Given the description of an element on the screen output the (x, y) to click on. 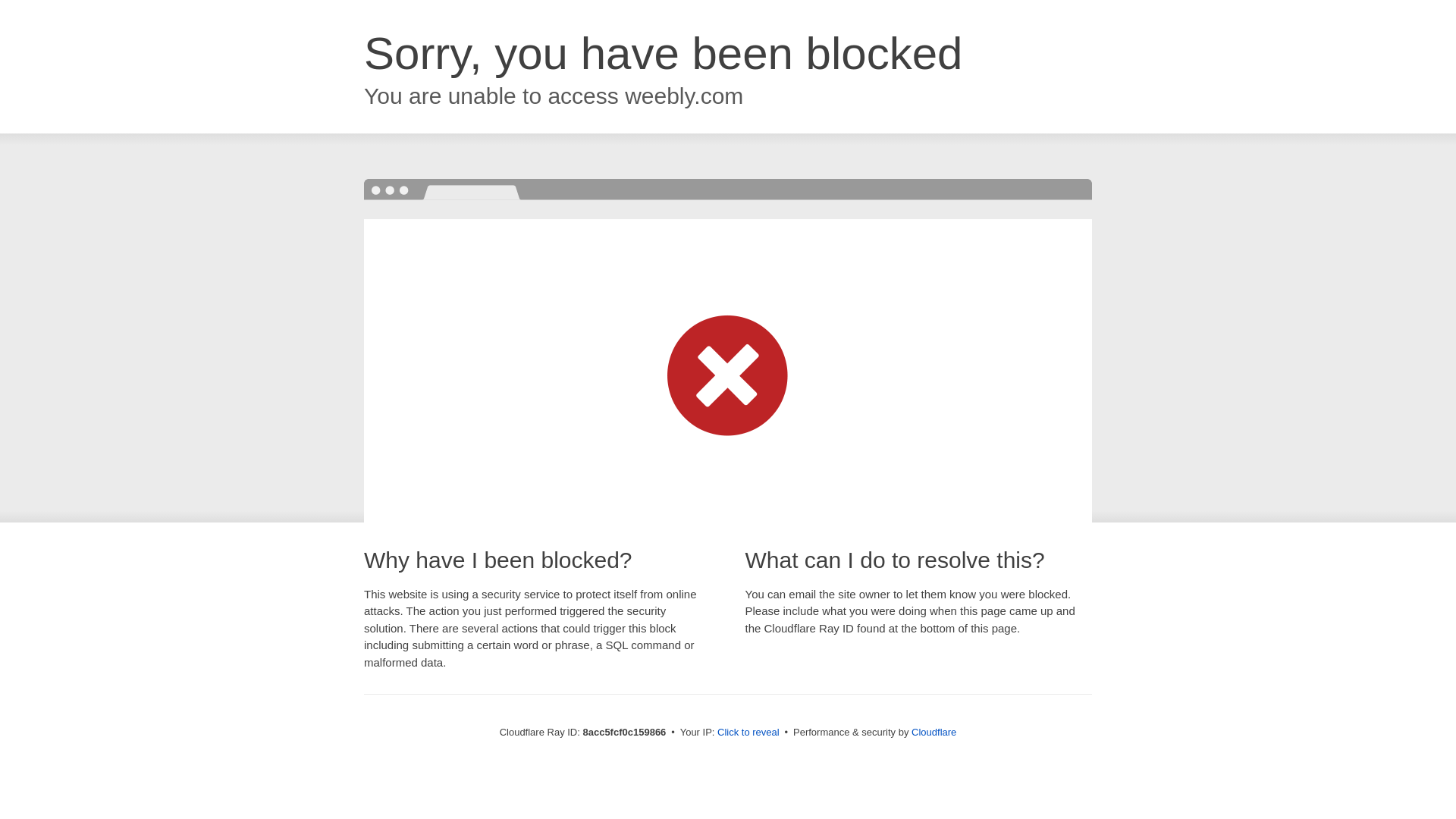
Cloudflare (933, 731)
Click to reveal (747, 732)
